Given the description of an element on the screen output the (x, y) to click on. 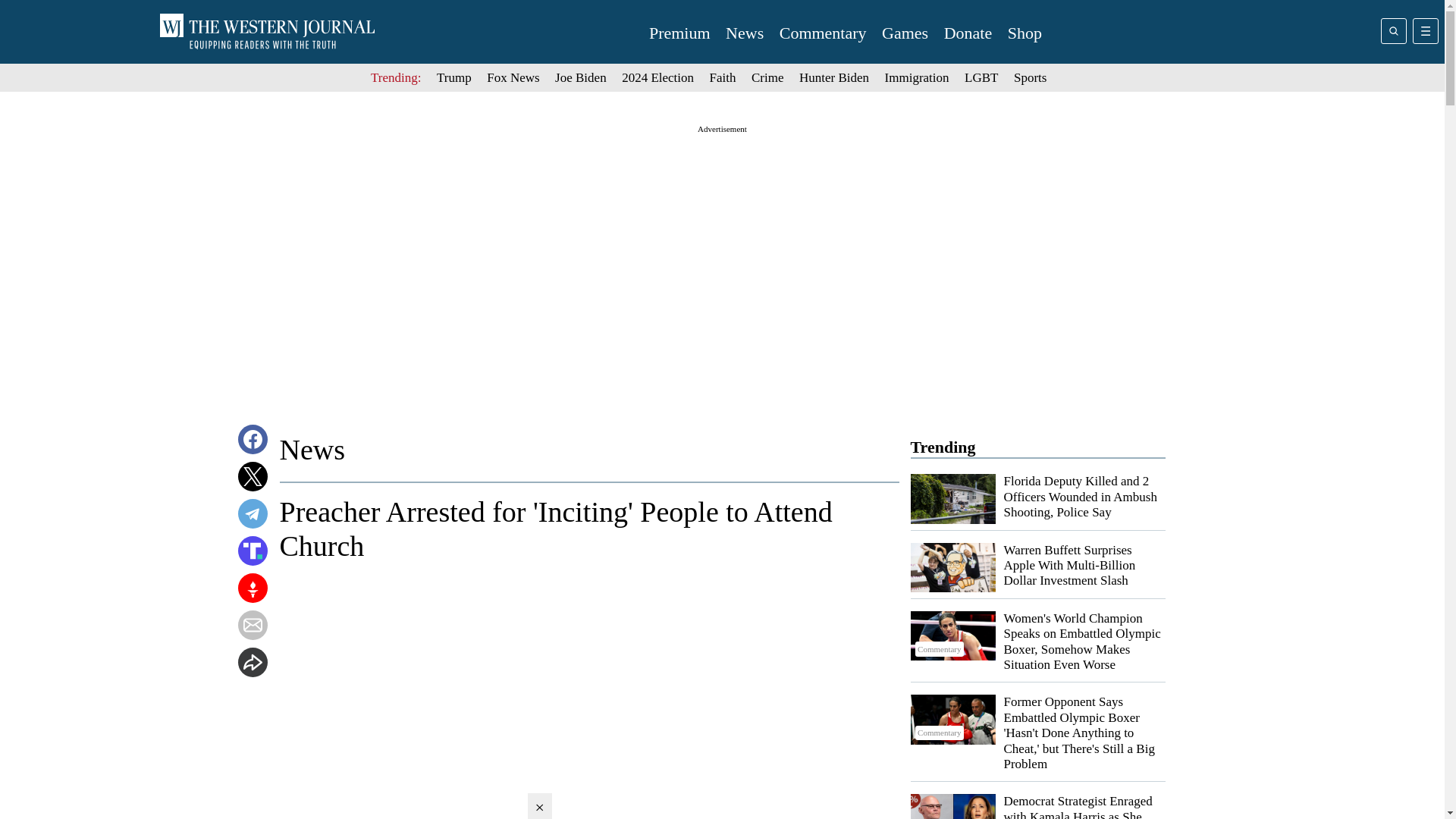
Commentary (952, 772)
Donate (967, 32)
2024 Election (657, 77)
LGBT (980, 77)
Commentary (952, 567)
Trump (453, 77)
Games (905, 32)
